Given the description of an element on the screen output the (x, y) to click on. 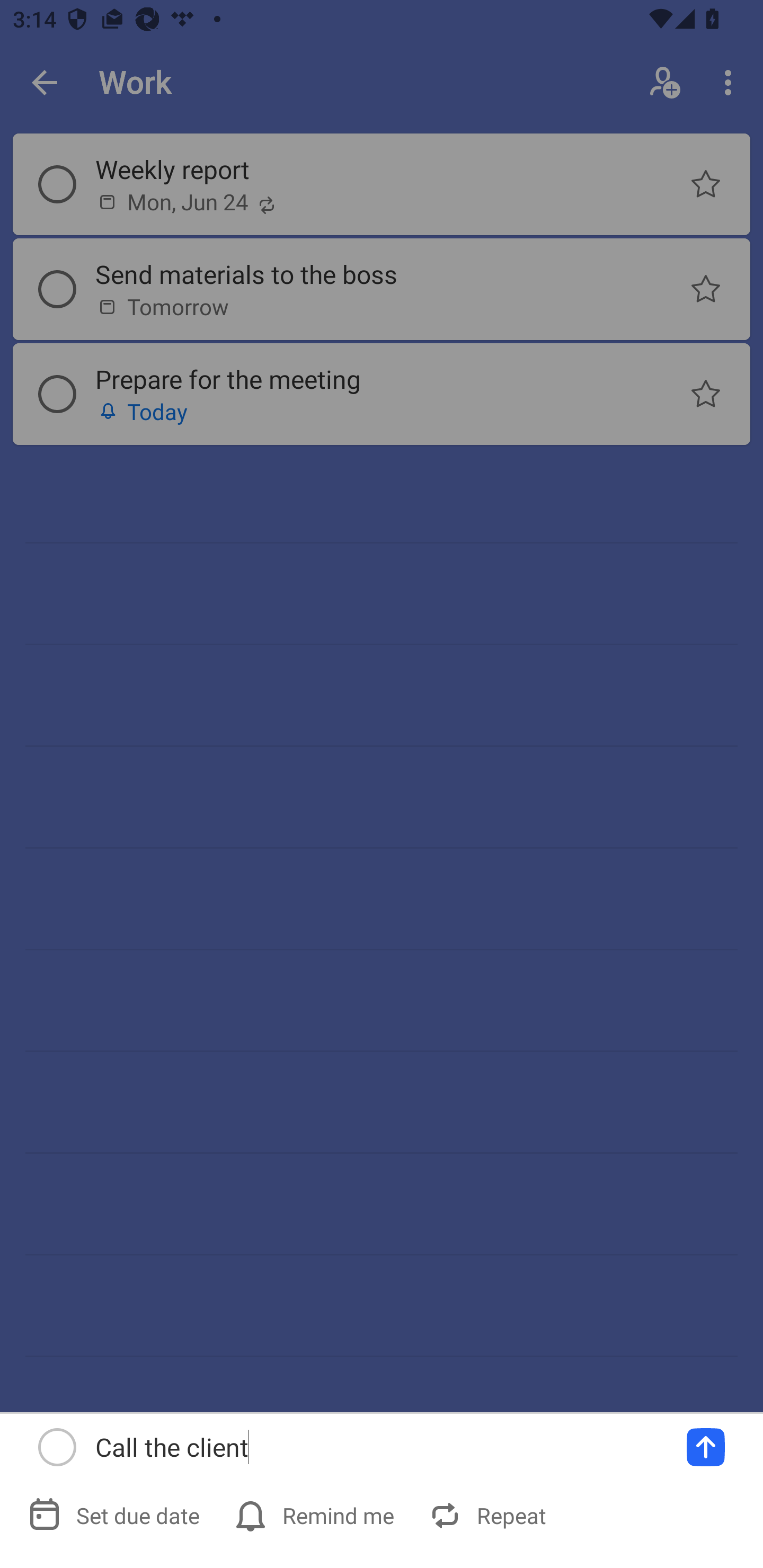
Remind me (315, 1515)
